Given the description of an element on the screen output the (x, y) to click on. 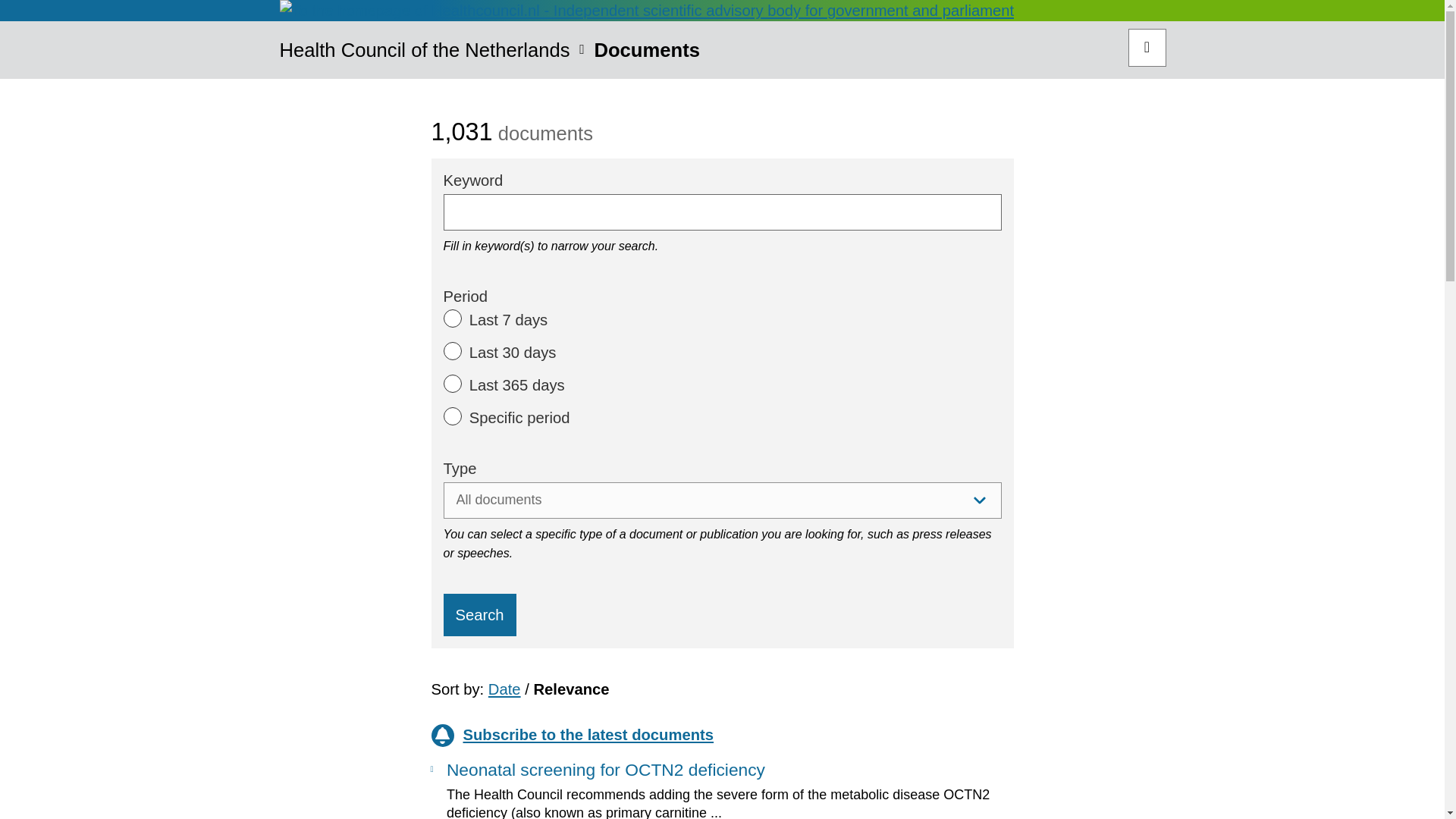
Health Council of the Netherlands (424, 54)
Date (504, 688)
Search (1146, 47)
Search (478, 614)
Start search (1146, 47)
Search (478, 614)
Subscribe to the latest documents (721, 734)
